Given the description of an element on the screen output the (x, y) to click on. 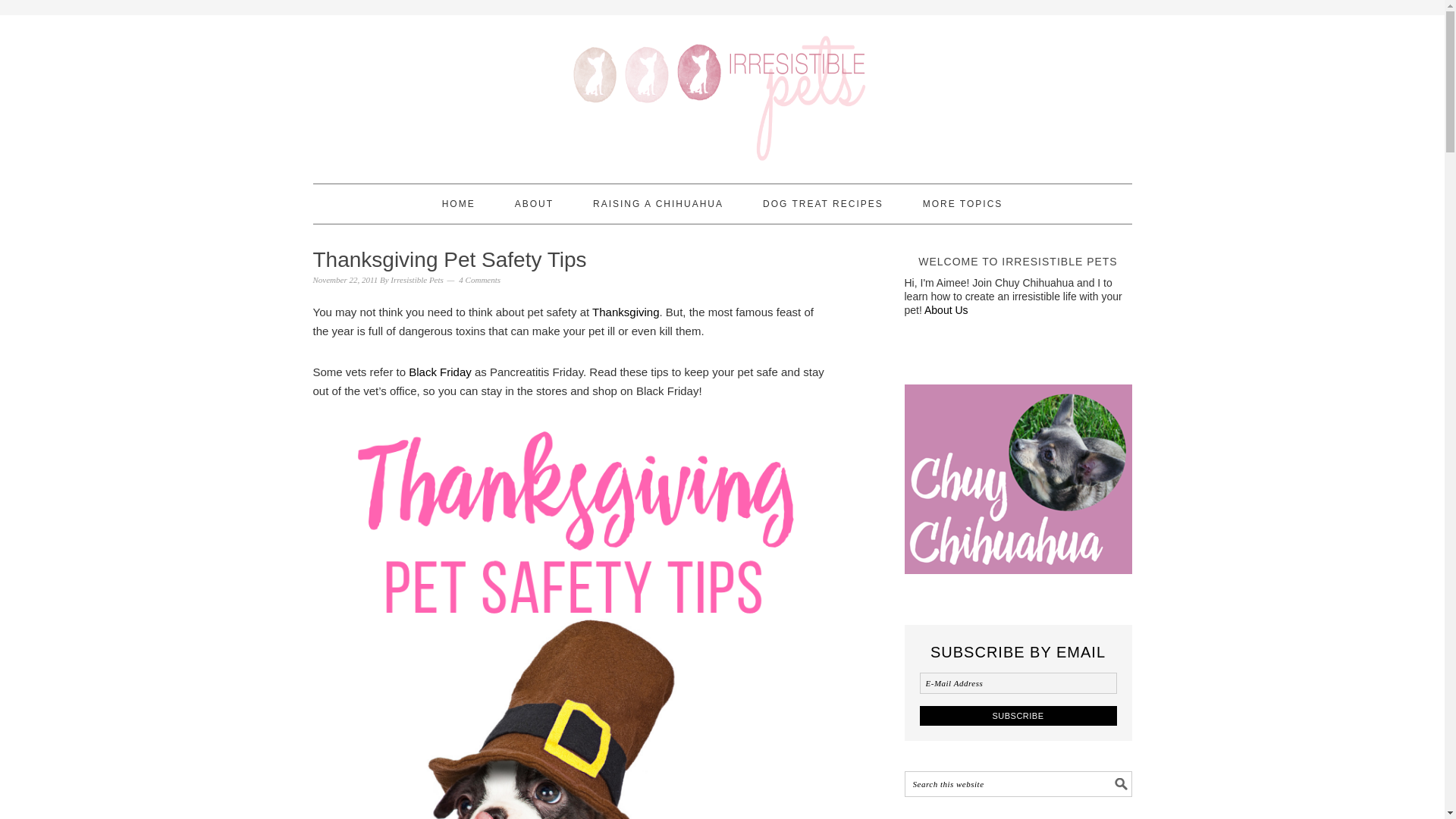
MORE TOPICS (963, 203)
4 Comments (479, 279)
DOG TREAT RECIPES (823, 203)
HOME (459, 203)
RAISING A CHIHUAHUA (657, 203)
Thanksgiving (625, 311)
Subscribe (1017, 714)
About Us (946, 309)
ABOUT (534, 203)
Irresistible Pets (417, 279)
Black Friday (440, 371)
IRRESISTIBLE PETS (722, 92)
